Given the description of an element on the screen output the (x, y) to click on. 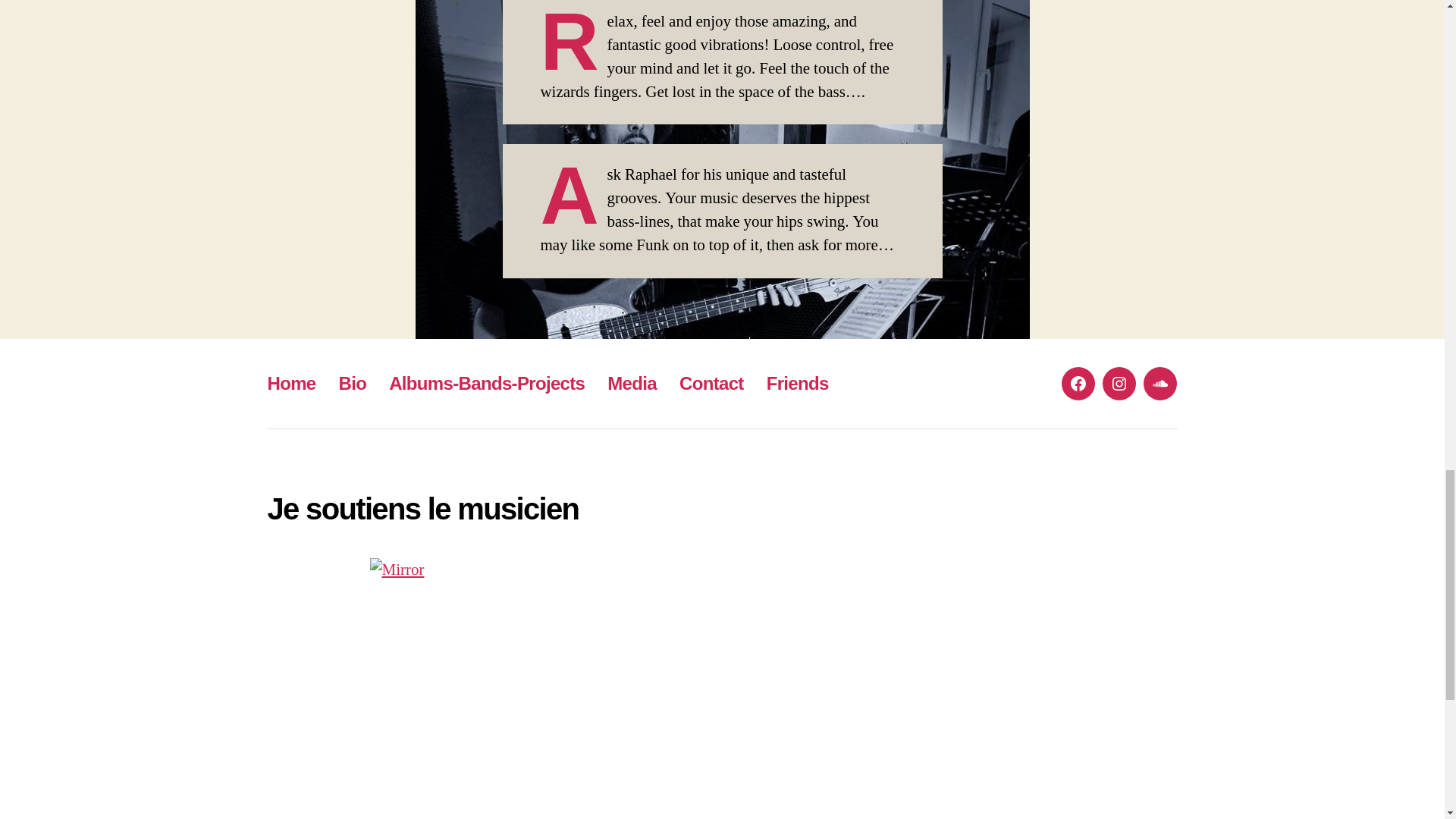
Soundcloud (1159, 383)
Instagram (1118, 383)
Facebook (1077, 383)
Albums-Bands-Projects (486, 383)
Bio (352, 383)
Media (631, 383)
Contact (711, 383)
Home (290, 383)
Friends (797, 383)
